Given the description of an element on the screen output the (x, y) to click on. 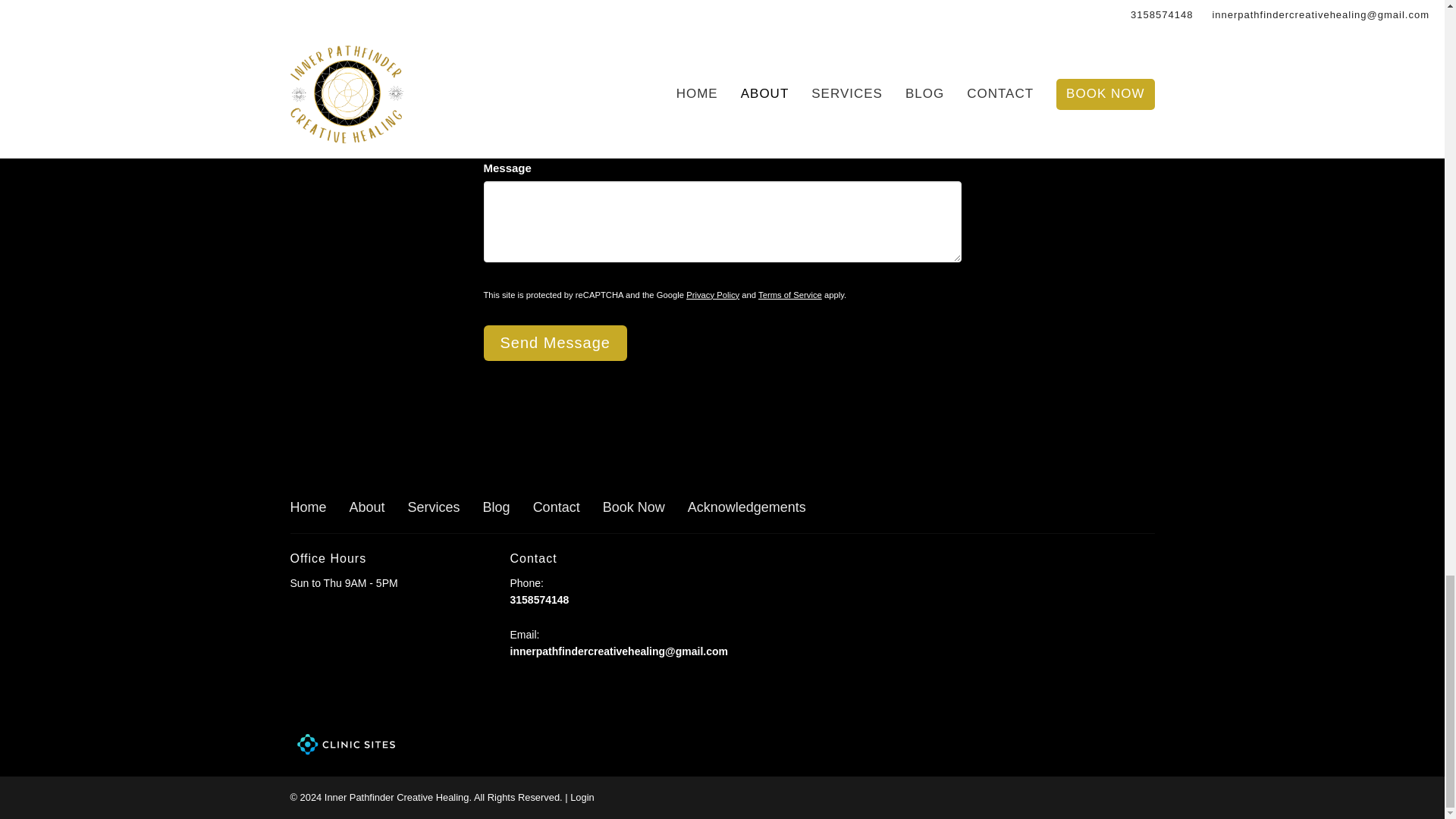
Contact (555, 507)
Send Message (555, 343)
Send Message (555, 343)
Acknowledgements (746, 507)
Privacy Policy (712, 294)
Home (307, 507)
Services (433, 507)
About (367, 507)
Terms of Service (790, 294)
Login (582, 797)
